Given the description of an element on the screen output the (x, y) to click on. 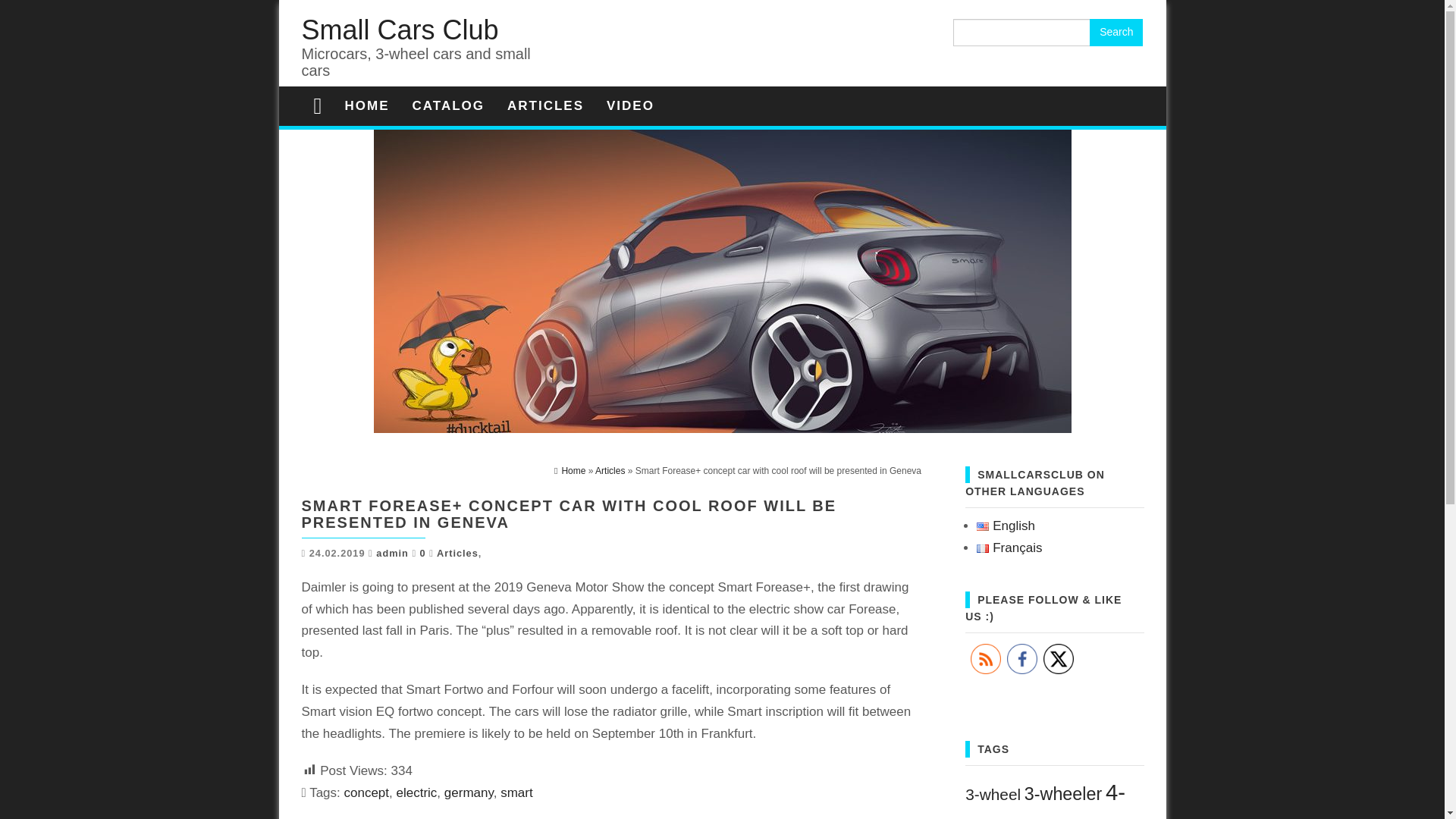
Catalog (448, 105)
Articles (609, 470)
Search (1115, 31)
3-wheeler (1063, 793)
CATALOG (448, 105)
Home (569, 470)
electric (416, 792)
Articles (545, 105)
Home (366, 105)
Video (630, 105)
RSS (986, 658)
Posts by admin (392, 552)
VIDEO (630, 105)
Articles (457, 552)
View all posts in Articles (457, 552)
